Given the description of an element on the screen output the (x, y) to click on. 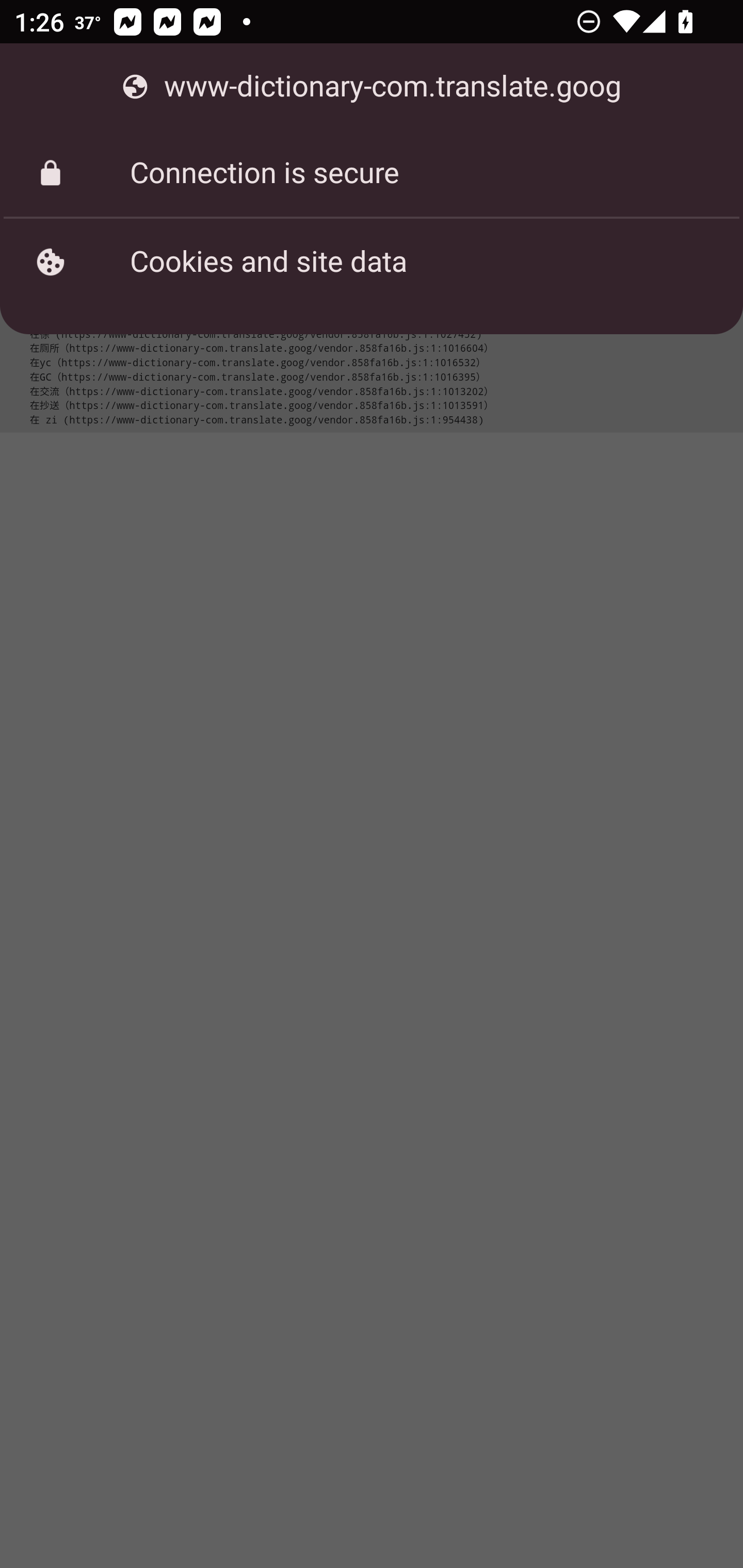
www-dictionary-com.translate.goog (371, 86)
Connection is secure (371, 173)
Cookies and site data (371, 261)
